Given the description of an element on the screen output the (x, y) to click on. 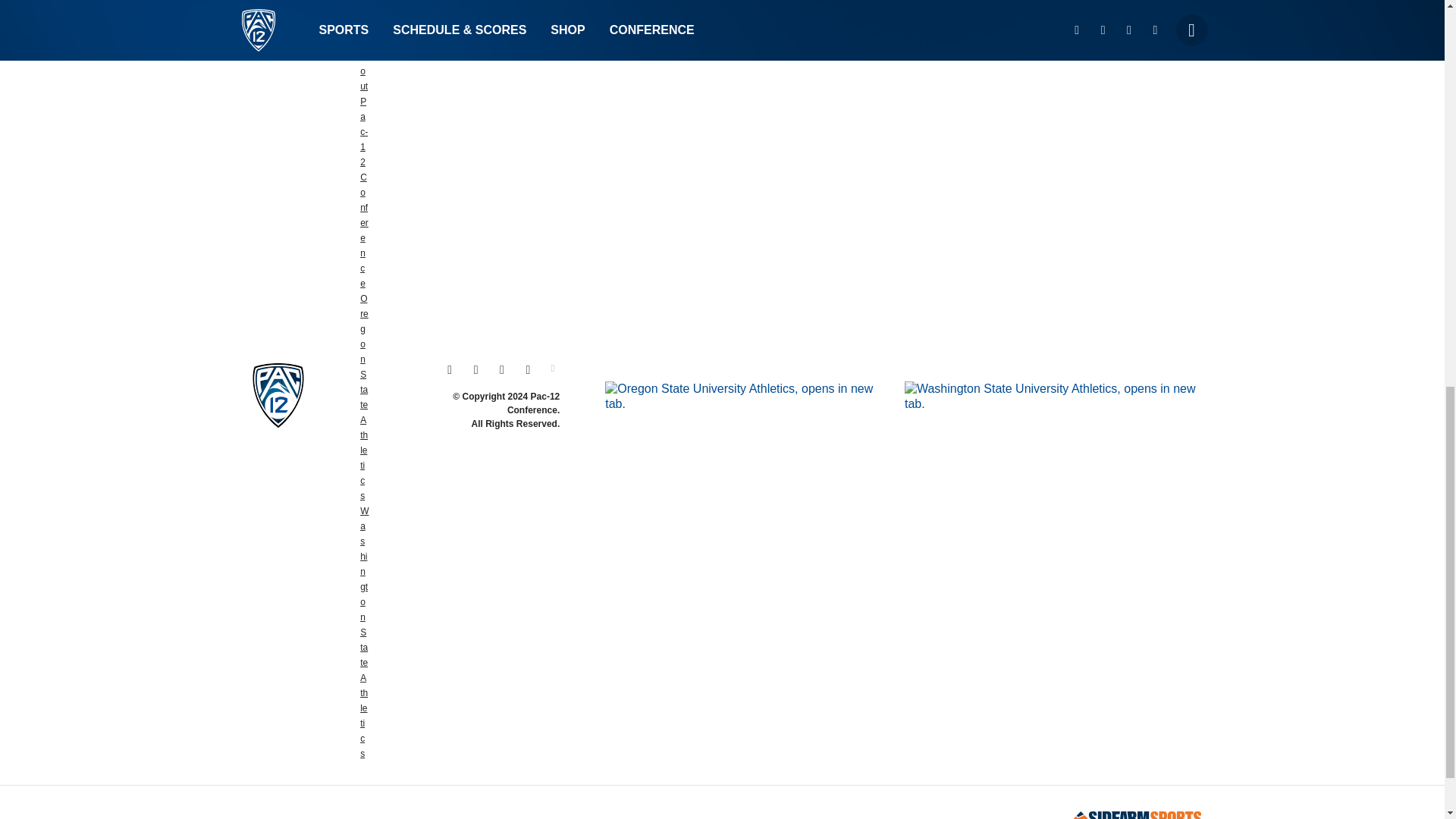
Instagram (449, 369)
Twitter (475, 369)
TikTok (527, 369)
Facebook (502, 369)
